Given the description of an element on the screen output the (x, y) to click on. 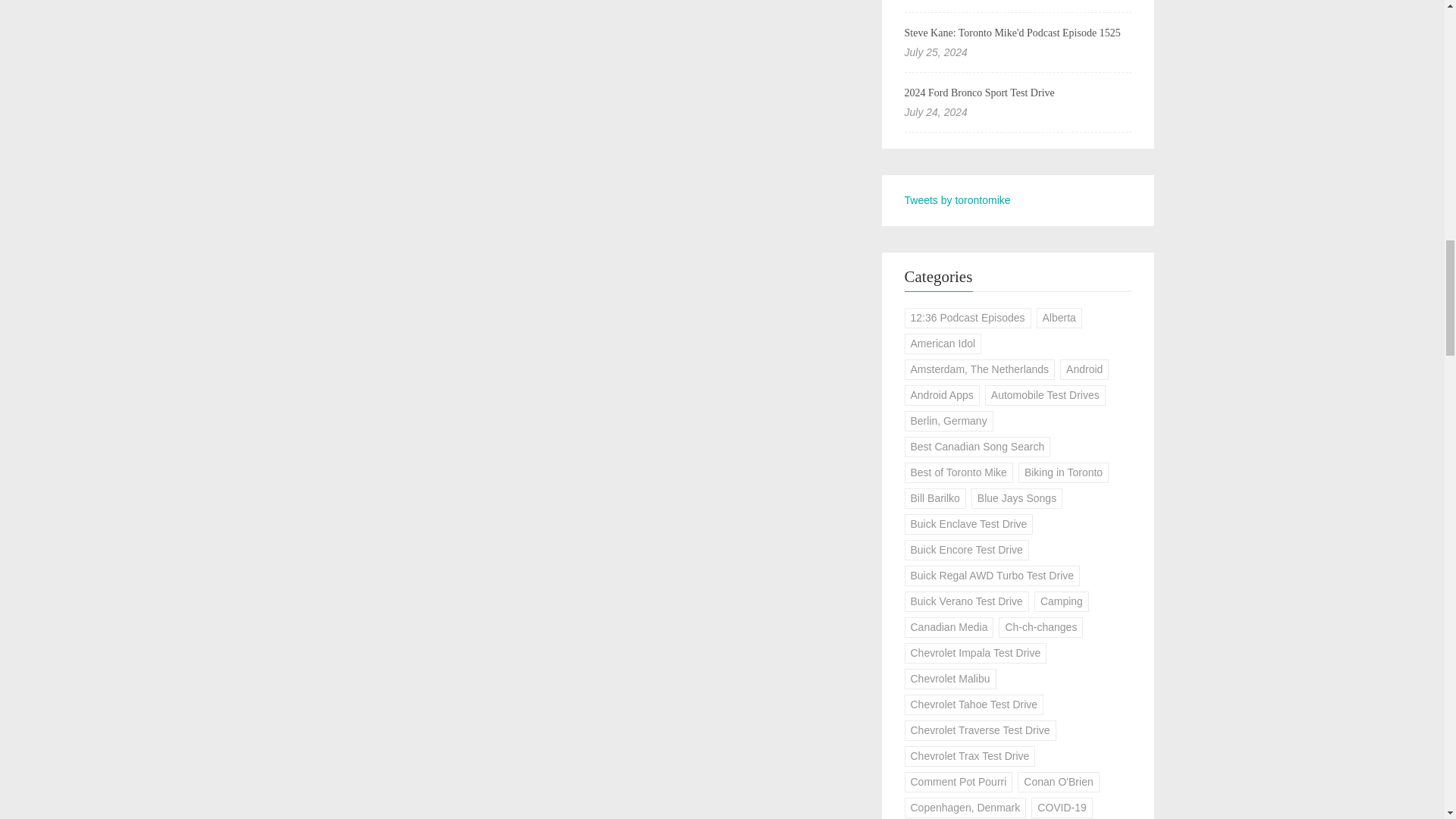
2024 Ford Bronco Sport Test Drive (979, 92)
Steve Kane: Toronto Mike'd Podcast Episode 1525 (1011, 32)
